Given the description of an element on the screen output the (x, y) to click on. 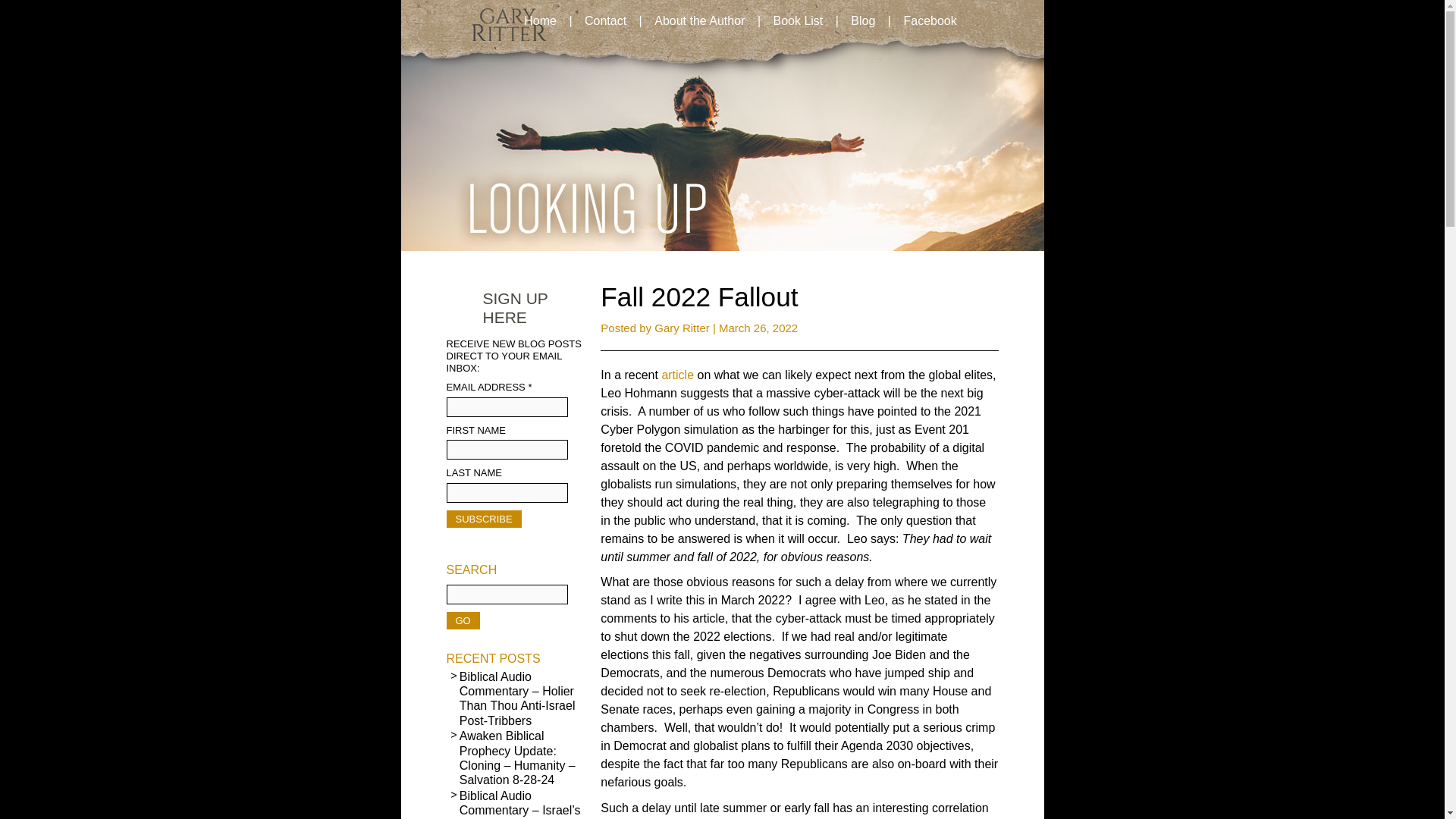
Go (462, 620)
Subscribe (483, 518)
Book List (796, 20)
Blog (862, 20)
About the Author (699, 20)
Facebook (929, 20)
Contact (604, 20)
Home (540, 20)
article (677, 374)
